Given the description of an element on the screen output the (x, y) to click on. 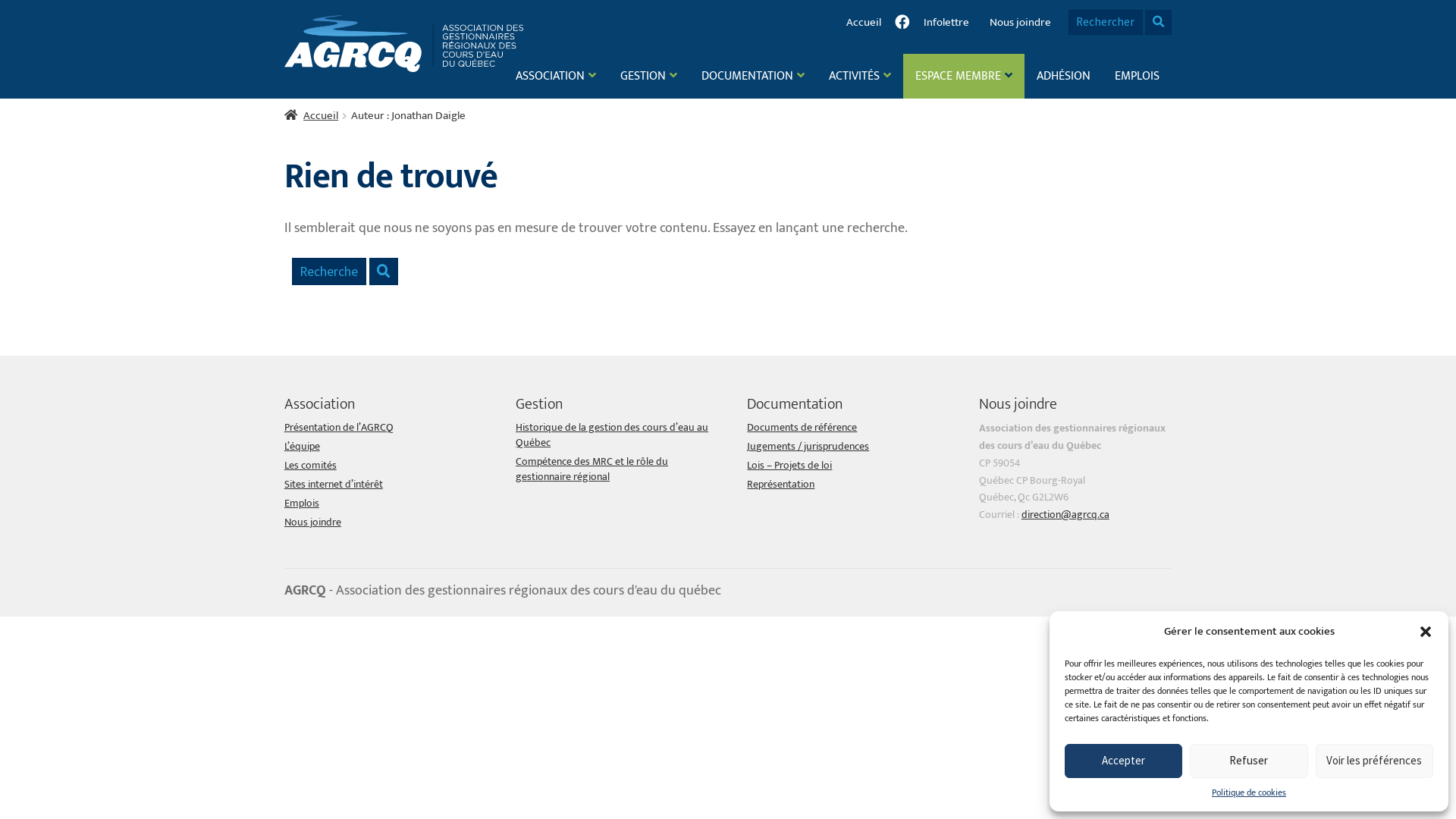
Nous joindre Element type: text (1019, 22)
Refuser Element type: text (1248, 760)
Infolettre Element type: text (946, 22)
ESPACE MEMBRE Element type: text (963, 75)
ASSOCIATION Element type: text (555, 75)
Emplois Element type: text (301, 502)
Jugements / jurisprudences Element type: text (807, 446)
Accueil Element type: text (311, 115)
direction@agrcq.ca Element type: text (1065, 514)
Facebook Element type: text (902, 21)
Accueil Element type: text (863, 22)
Politique de cookies Element type: text (1248, 792)
GESTION Element type: text (648, 75)
Nous joindre Element type: text (312, 521)
DOCUMENTATION Element type: text (752, 75)
Accepter Element type: text (1123, 760)
EMPLOIS Element type: text (1136, 76)
